Given the description of an element on the screen output the (x, y) to click on. 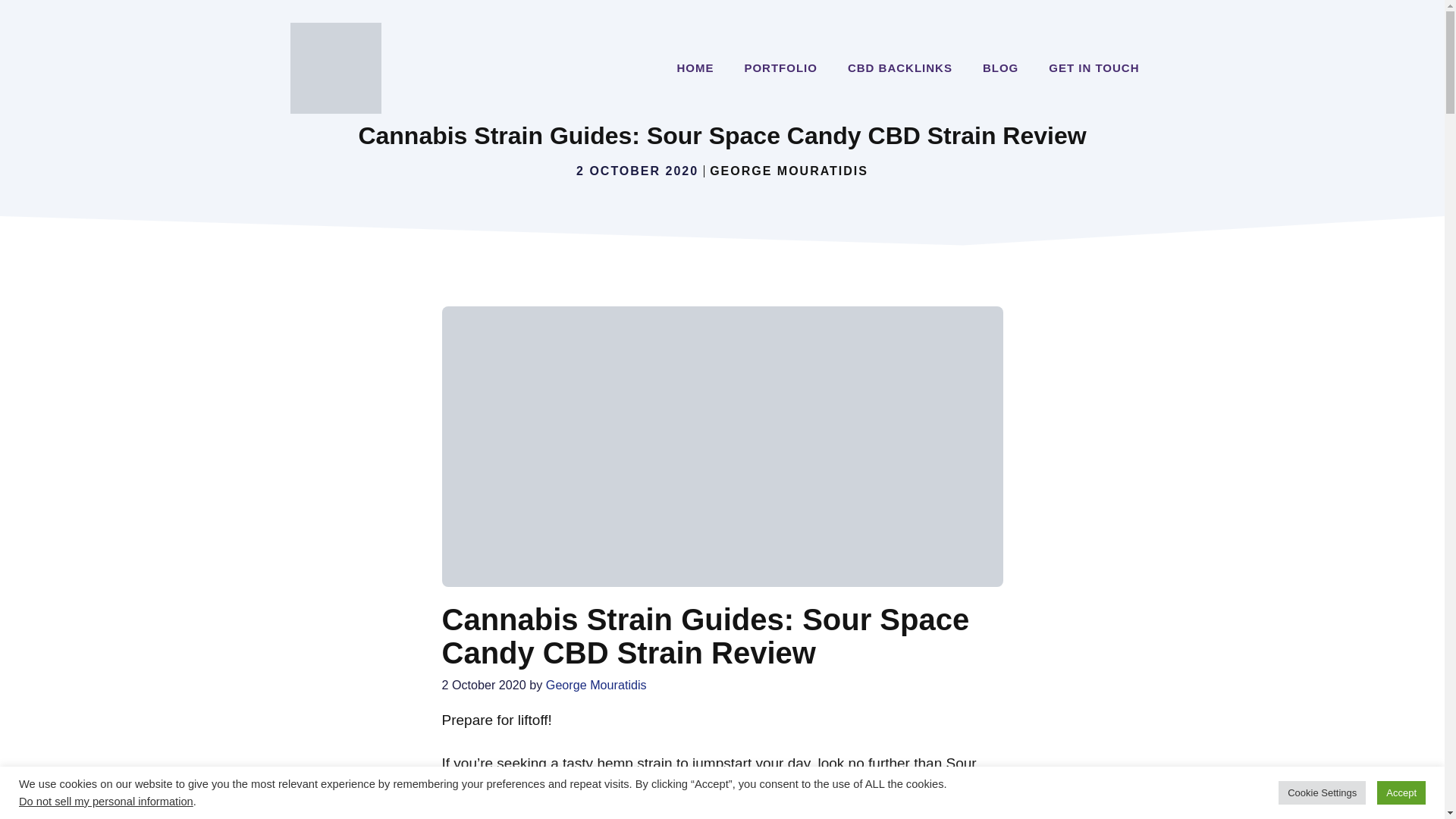
high-CBD hemp flowers (849, 785)
GET IN TOUCH (1093, 67)
PORTFOLIO (780, 67)
BLOG (1000, 67)
George Mouratidis (596, 684)
CBD BACKLINKS (900, 67)
View all posts by George Mouratidis (596, 684)
GEORGE MOURATIDIS (788, 170)
HOME (695, 67)
